Given the description of an element on the screen output the (x, y) to click on. 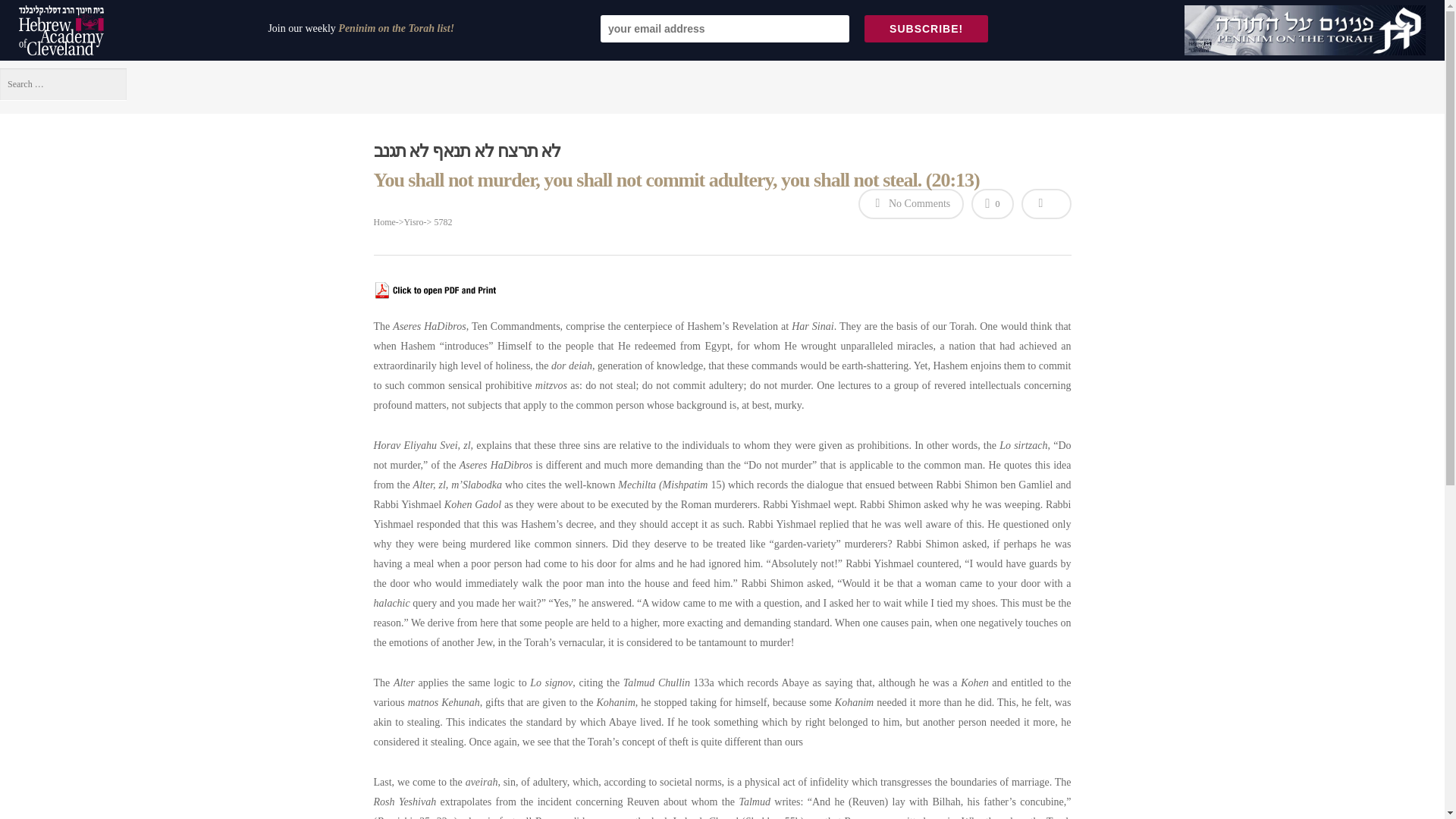
Download PDF (434, 306)
Reset (11, 286)
Search (578, 324)
All years (50, 239)
All topics (53, 185)
Love this (992, 204)
Search (578, 324)
All Parashas (61, 132)
SUBSCRIBE! (926, 28)
